Given the description of an element on the screen output the (x, y) to click on. 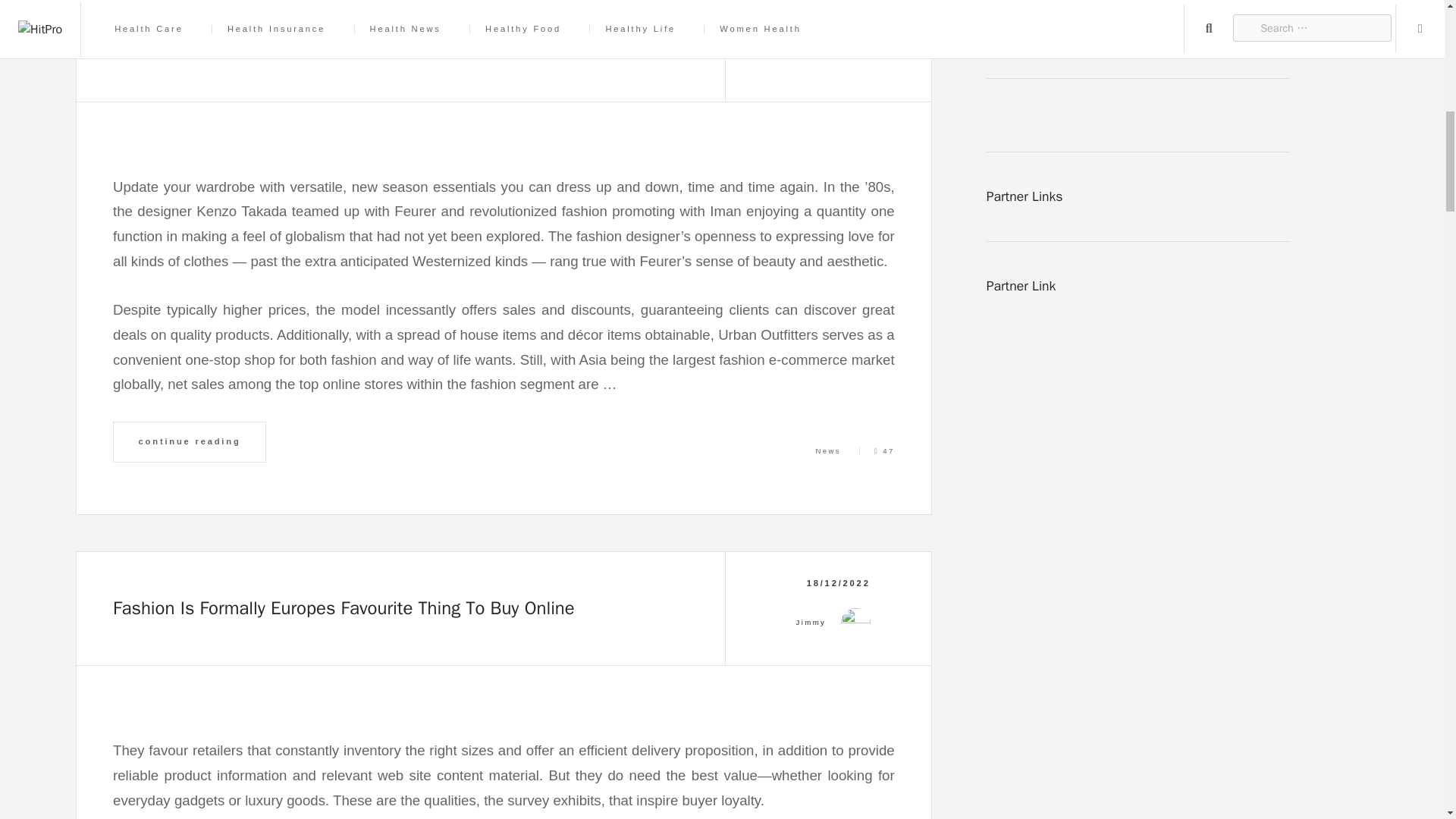
News (828, 450)
Jimmy (811, 36)
continue reading (189, 441)
Fashion Is Formally Europes Favourite Thing To Buy Online (344, 608)
